Given the description of an element on the screen output the (x, y) to click on. 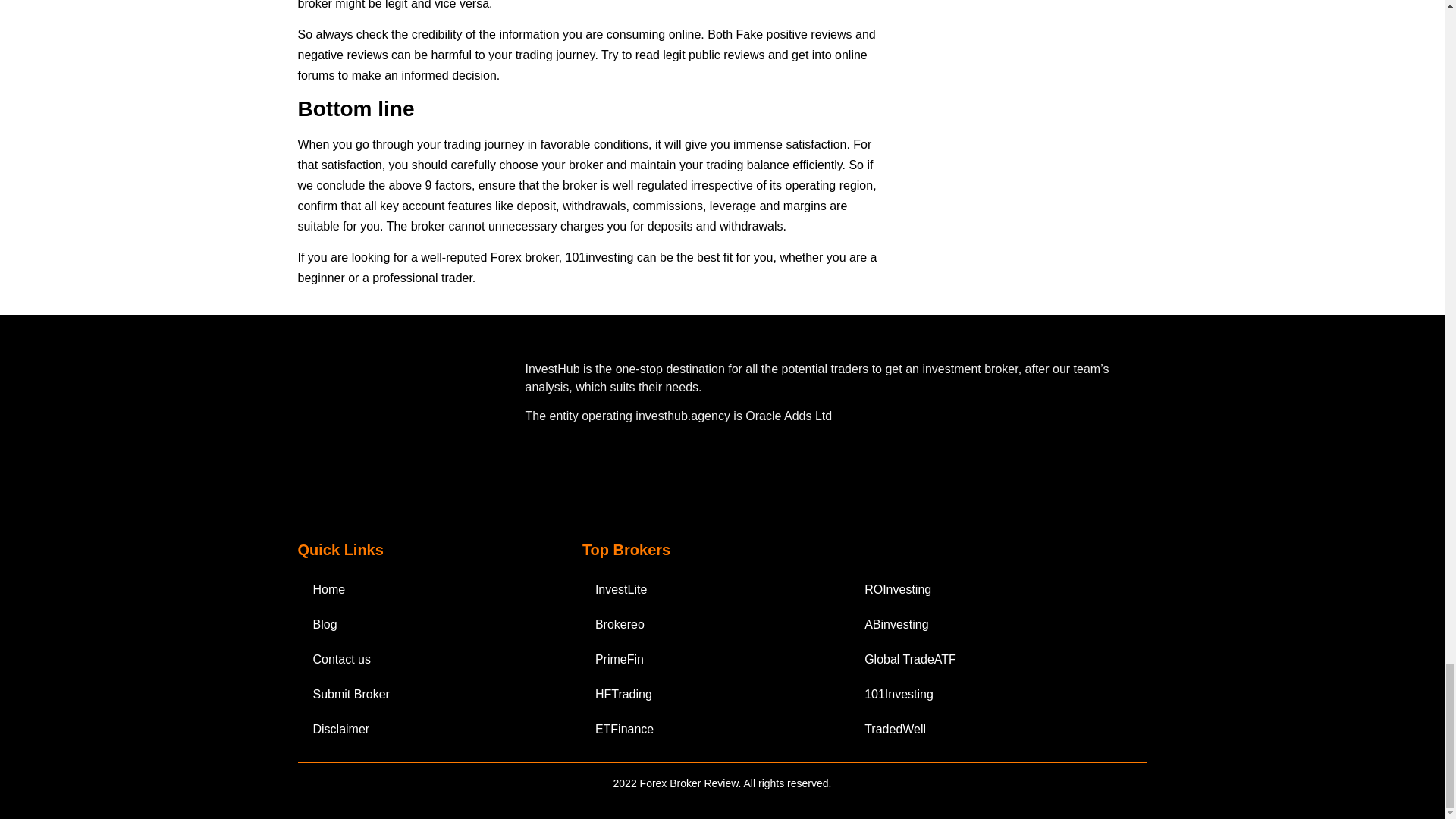
Blog (424, 624)
Home (424, 589)
Brokereo (715, 624)
Contact us (424, 659)
Submit Broker (424, 694)
InvestLite (715, 589)
Disclaimer (424, 728)
